Given the description of an element on the screen output the (x, y) to click on. 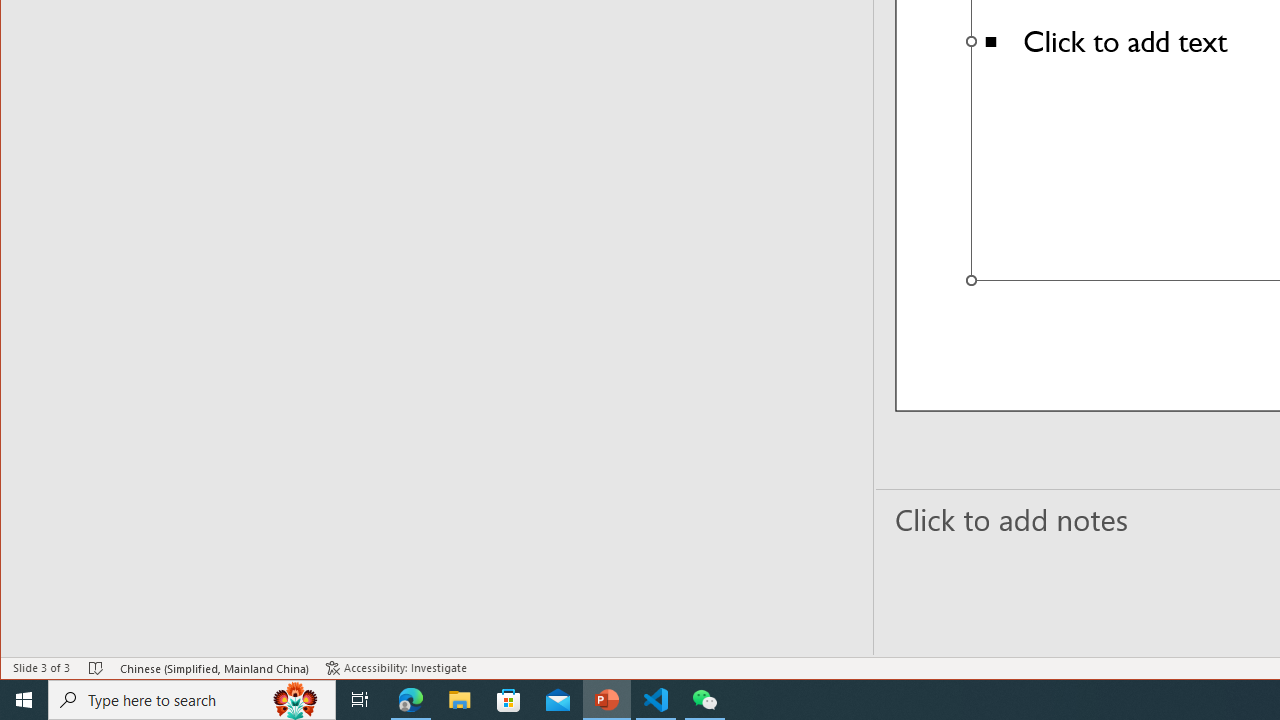
WeChat - 1 running window (704, 699)
